Given the description of an element on the screen output the (x, y) to click on. 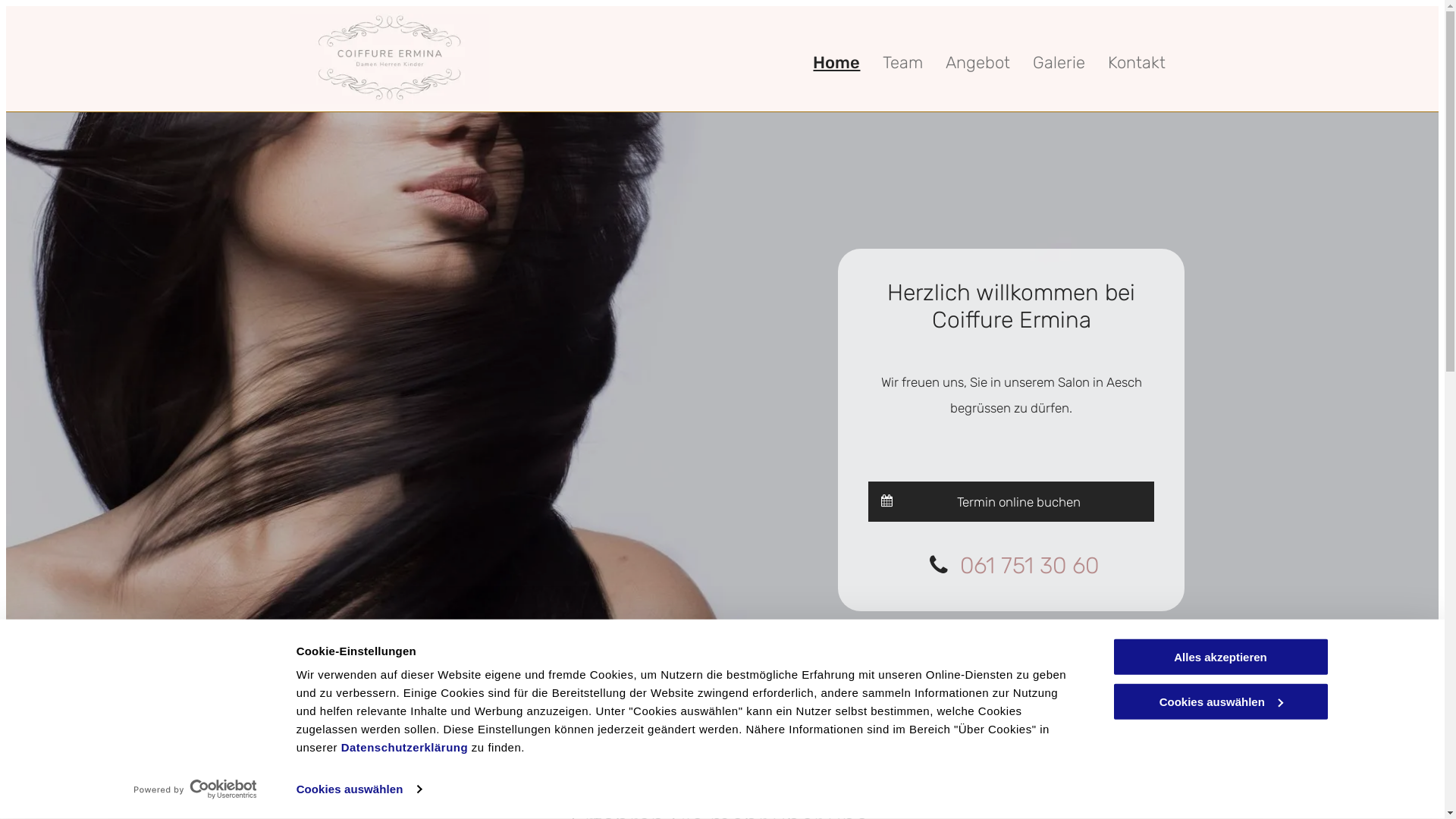
Kontakt Element type: text (1136, 62)
061 751 30 60 Element type: text (1029, 565)
Galerie Element type: text (1058, 62)
Angebot Element type: text (977, 62)
Team Element type: text (902, 62)
Termin online buchen Element type: text (1011, 501)
Home Element type: text (835, 62)
Alles akzeptieren Element type: text (1219, 656)
